Given the description of an element on the screen output the (x, y) to click on. 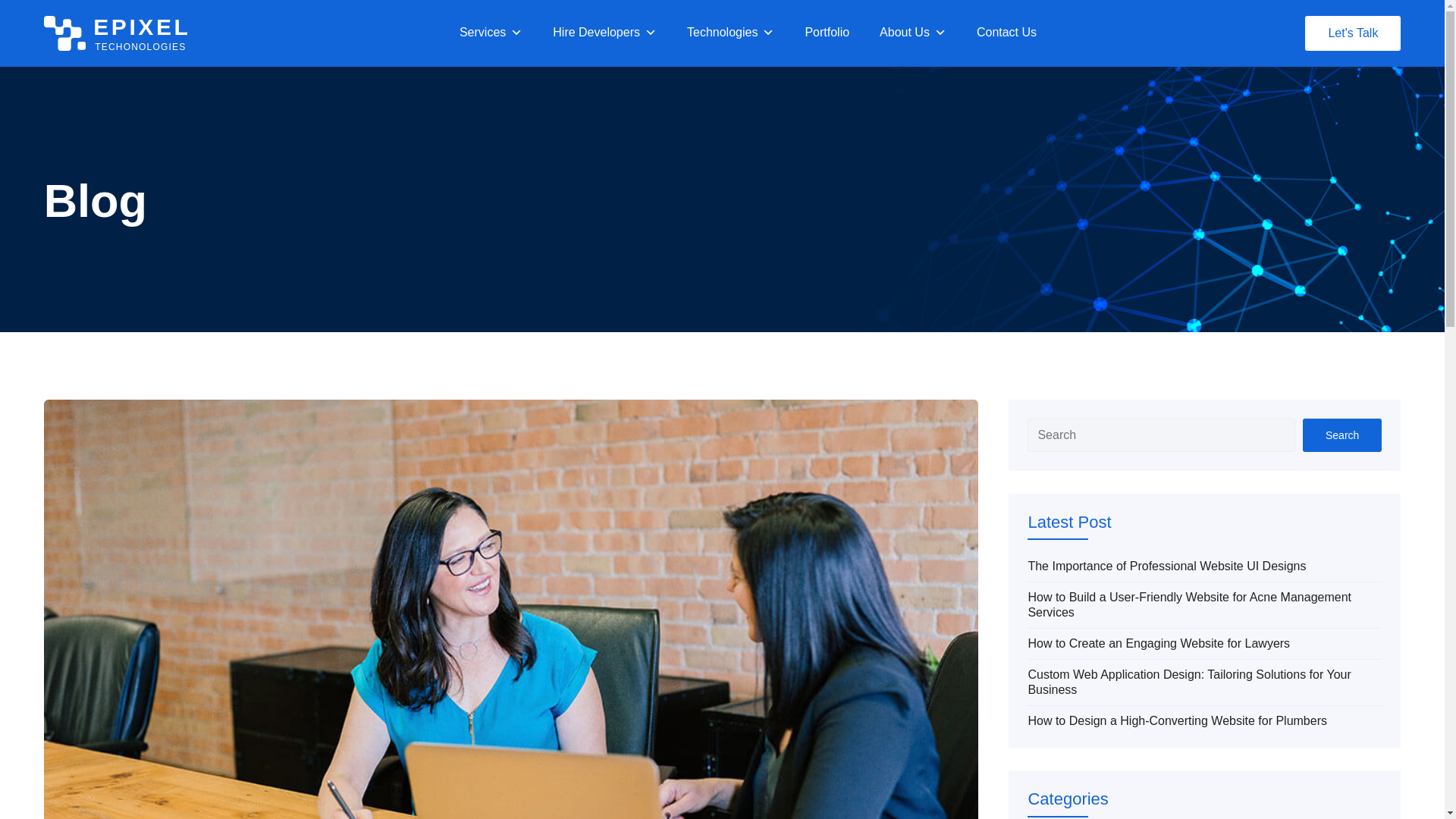
Hire Developers (116, 32)
Services (604, 33)
Technologies (491, 33)
